Given the description of an element on the screen output the (x, y) to click on. 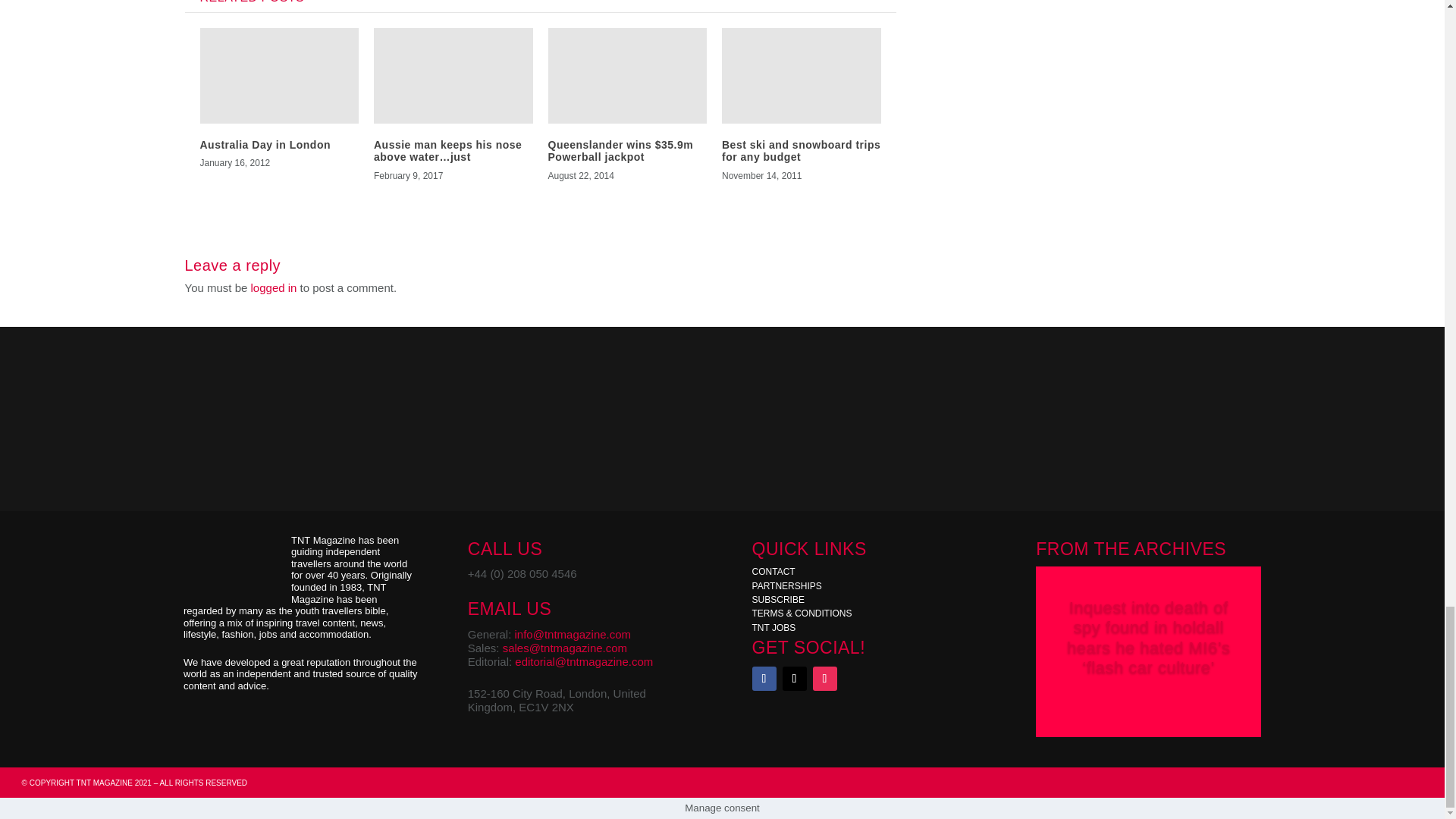
Australia Day in London (265, 144)
